Given the description of an element on the screen output the (x, y) to click on. 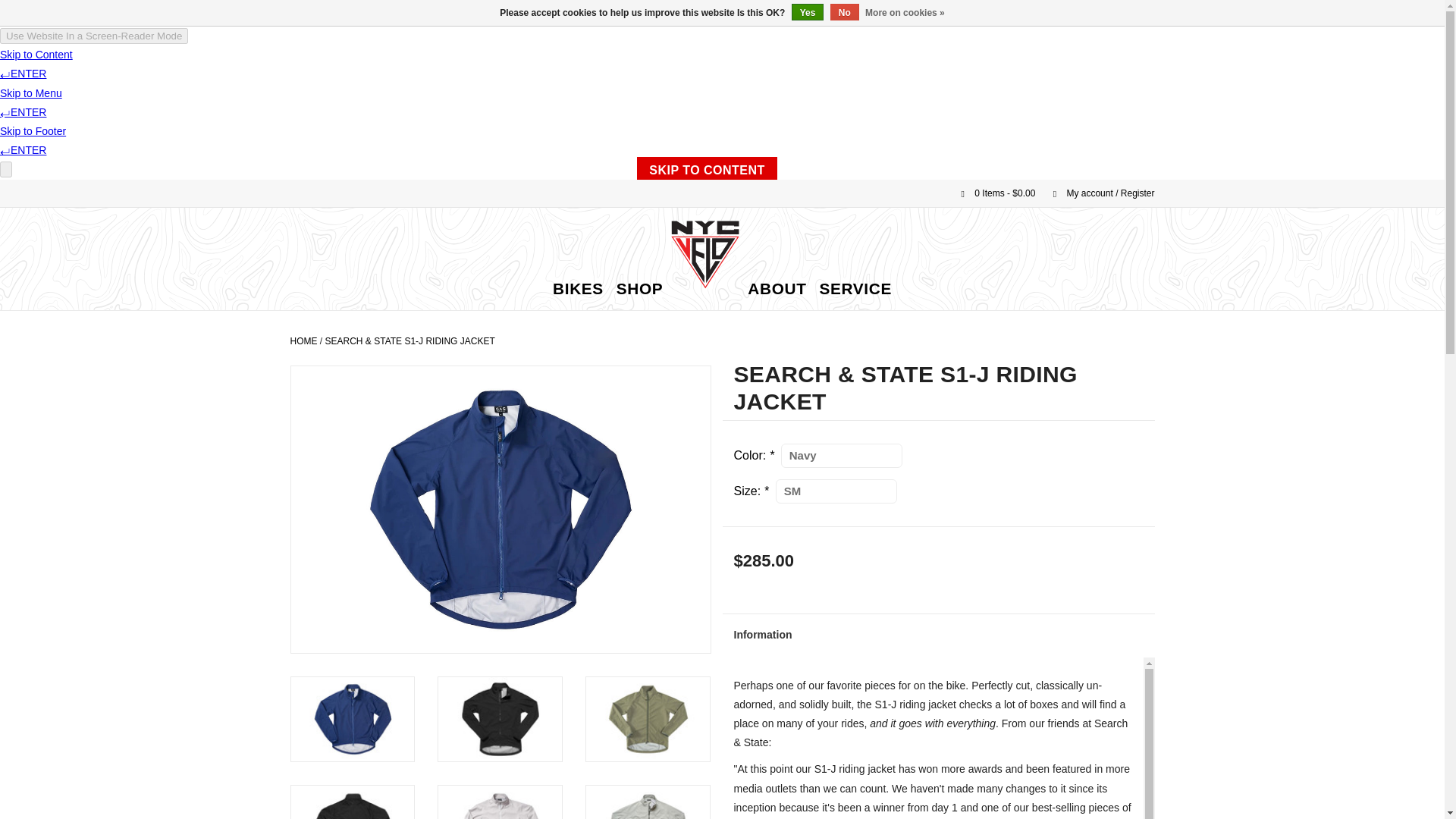
Cart (992, 193)
SKIP TO CONTENT (707, 167)
SHOP (639, 288)
Bikes (578, 288)
BIKES (578, 288)
My account (1096, 193)
NYC Velo icon (704, 254)
